Given the description of an element on the screen output the (x, y) to click on. 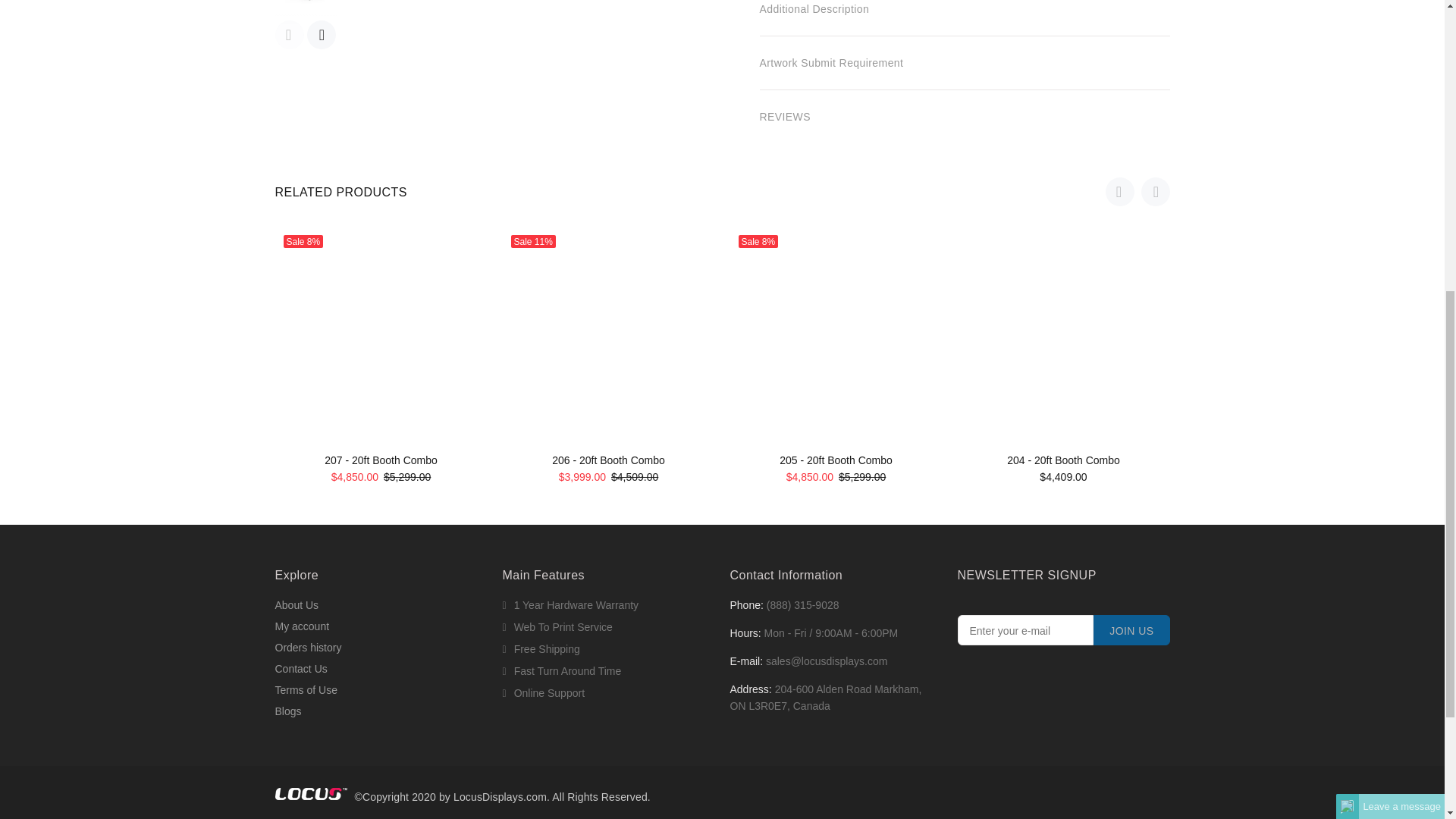
Offline (1347, 267)
